Given the description of an element on the screen output the (x, y) to click on. 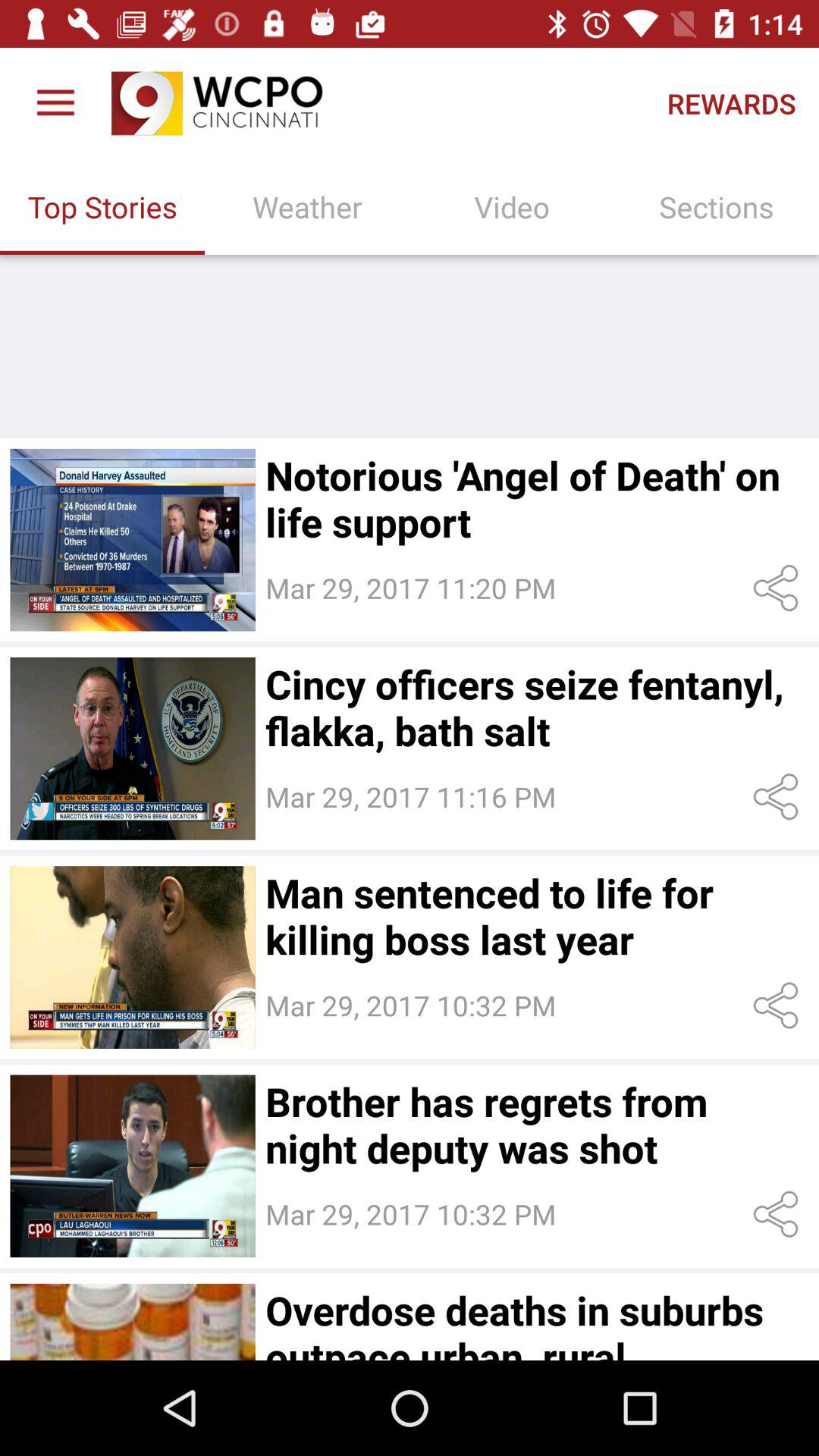
open article (132, 1321)
